Given the description of an element on the screen output the (x, y) to click on. 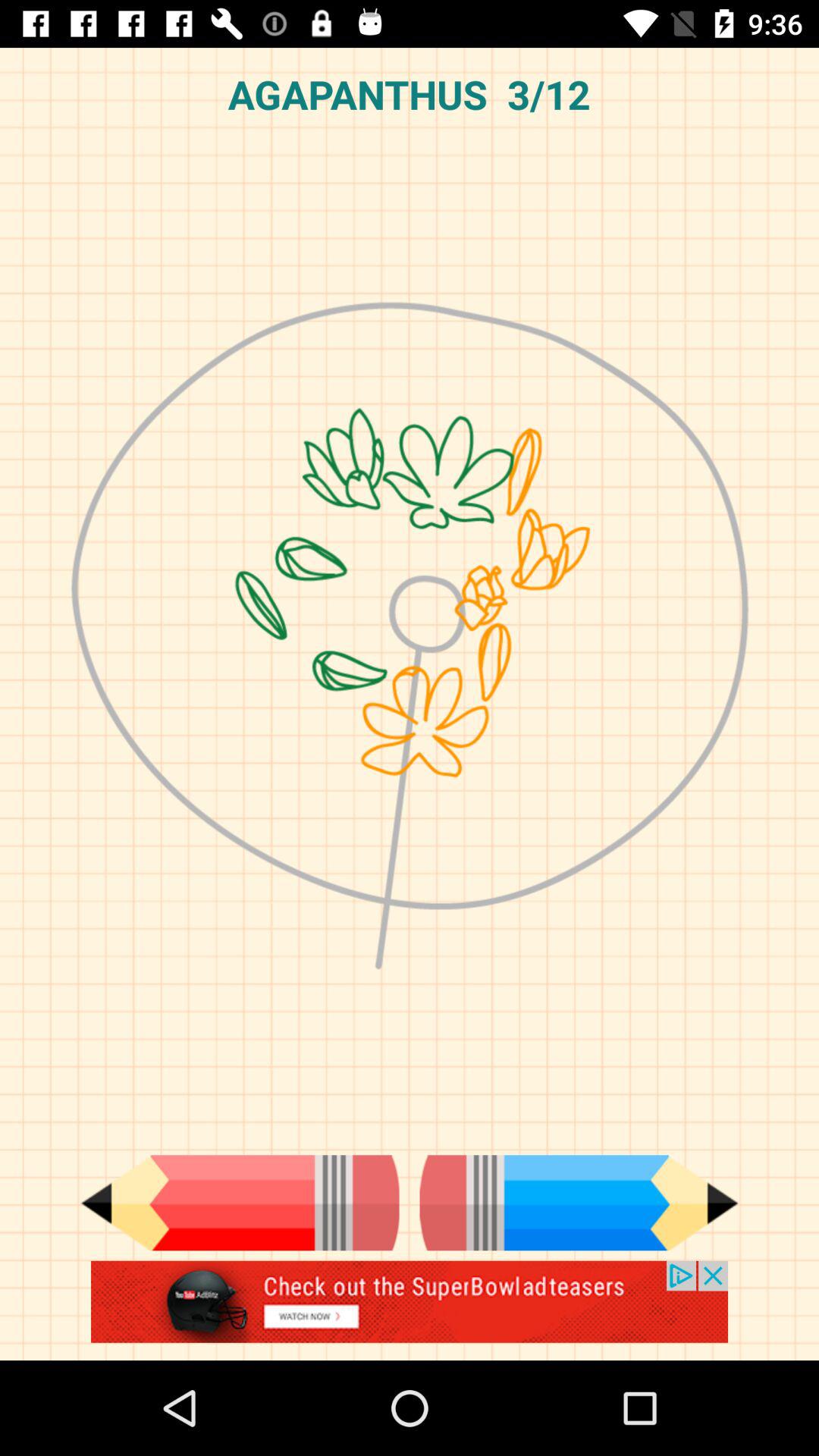
go to previous step (239, 1202)
